Given the description of an element on the screen output the (x, y) to click on. 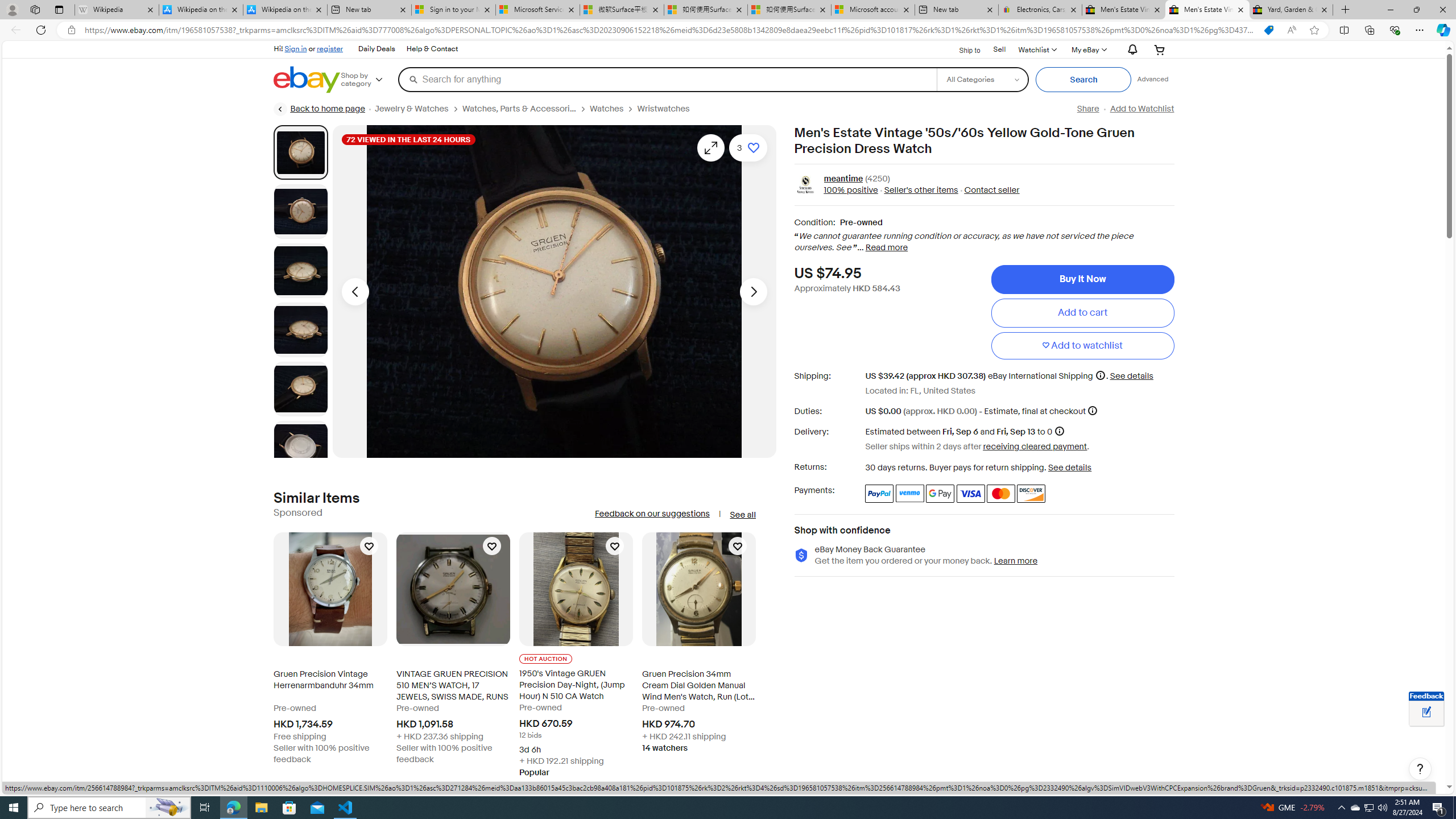
Buy It Now (1082, 279)
Google Pay (940, 493)
Visa (970, 493)
Expand Cart (1159, 49)
Picture 3 of 8 (300, 270)
Add to Watchlist (1141, 108)
